Given the description of an element on the screen output the (x, y) to click on. 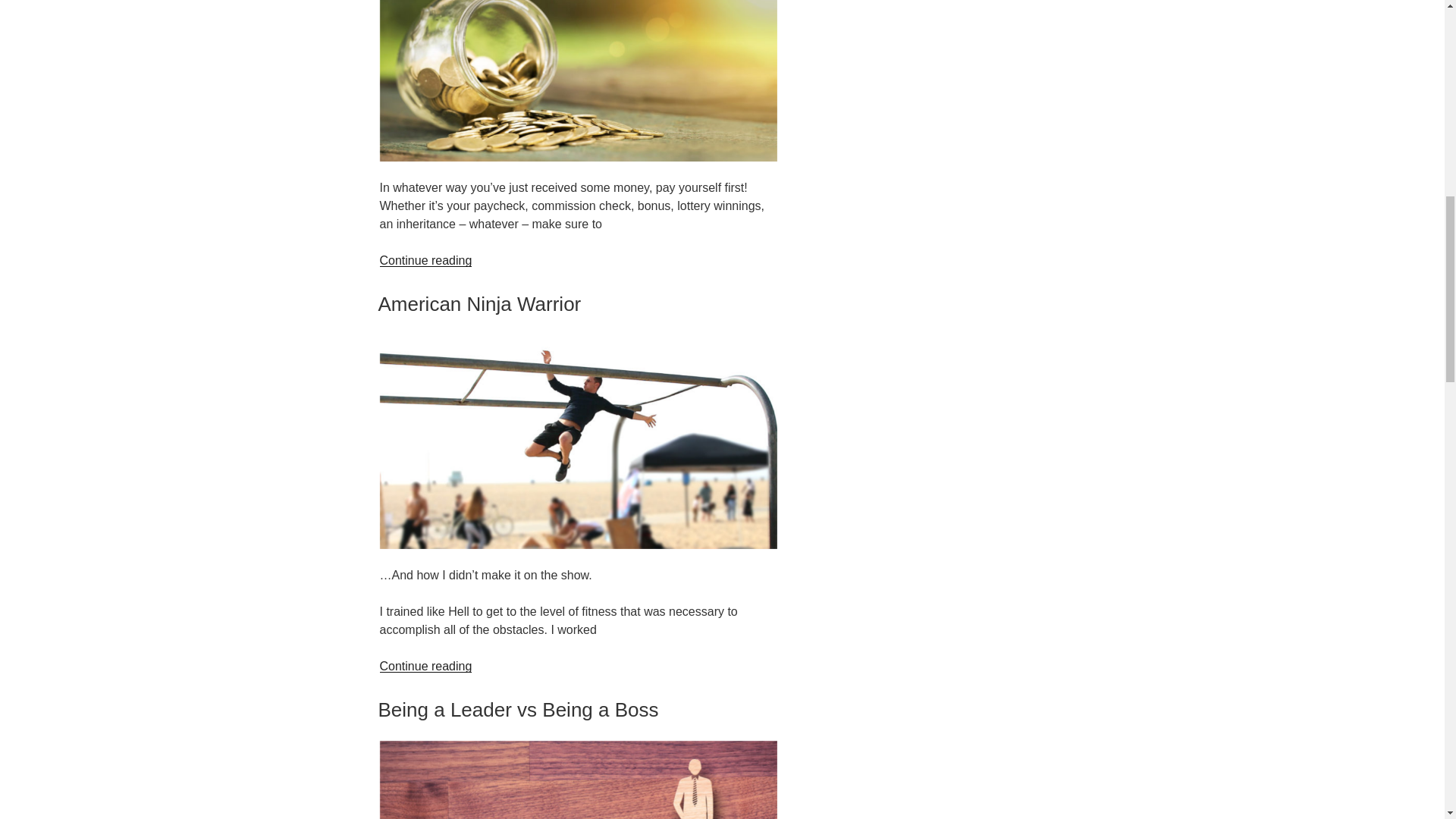
Being a Leader vs Being a Boss (517, 709)
American Ninja Warrior (478, 303)
